Given the description of an element on the screen output the (x, y) to click on. 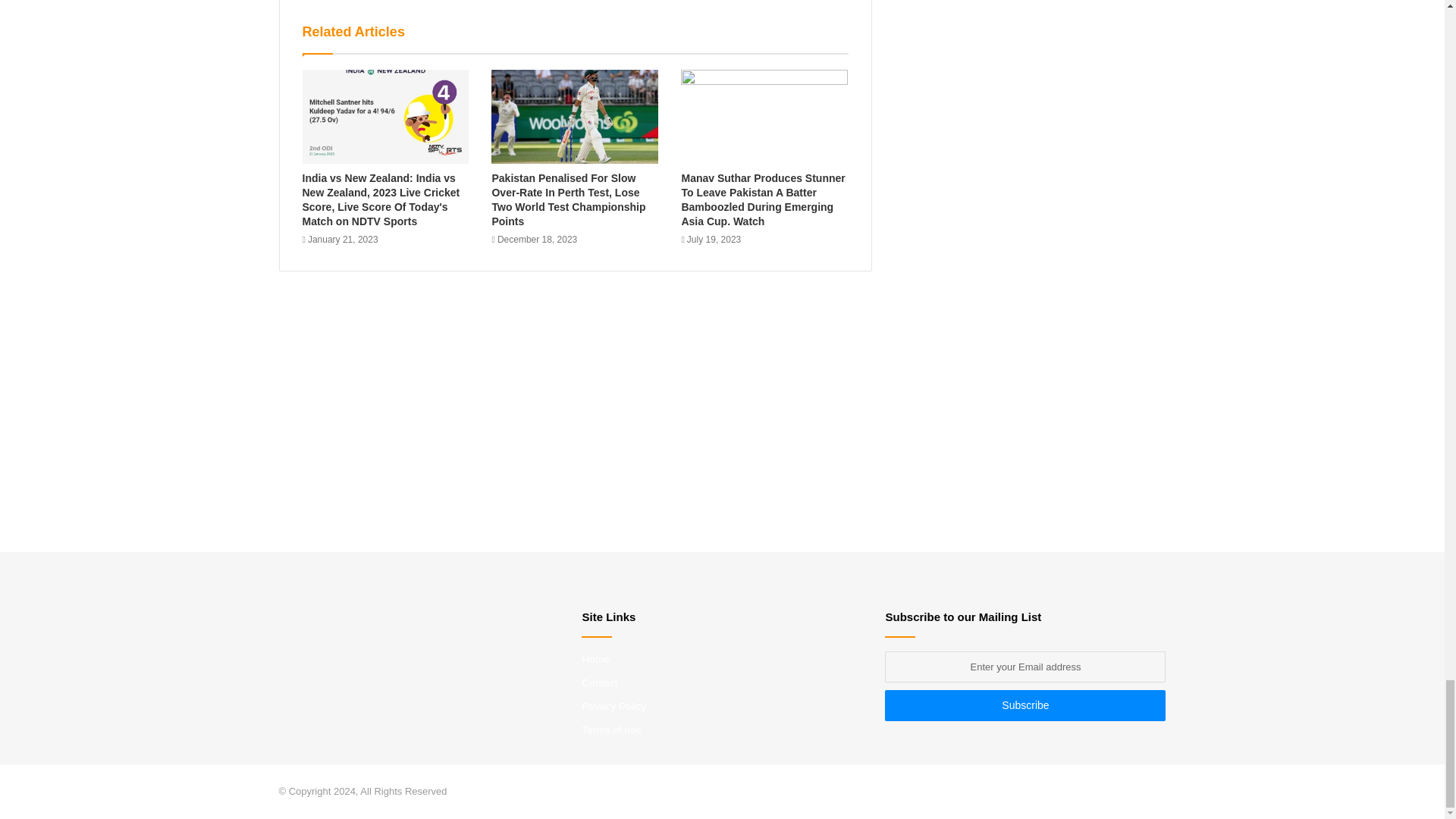
Subscribe (1025, 705)
